Given the description of an element on the screen output the (x, y) to click on. 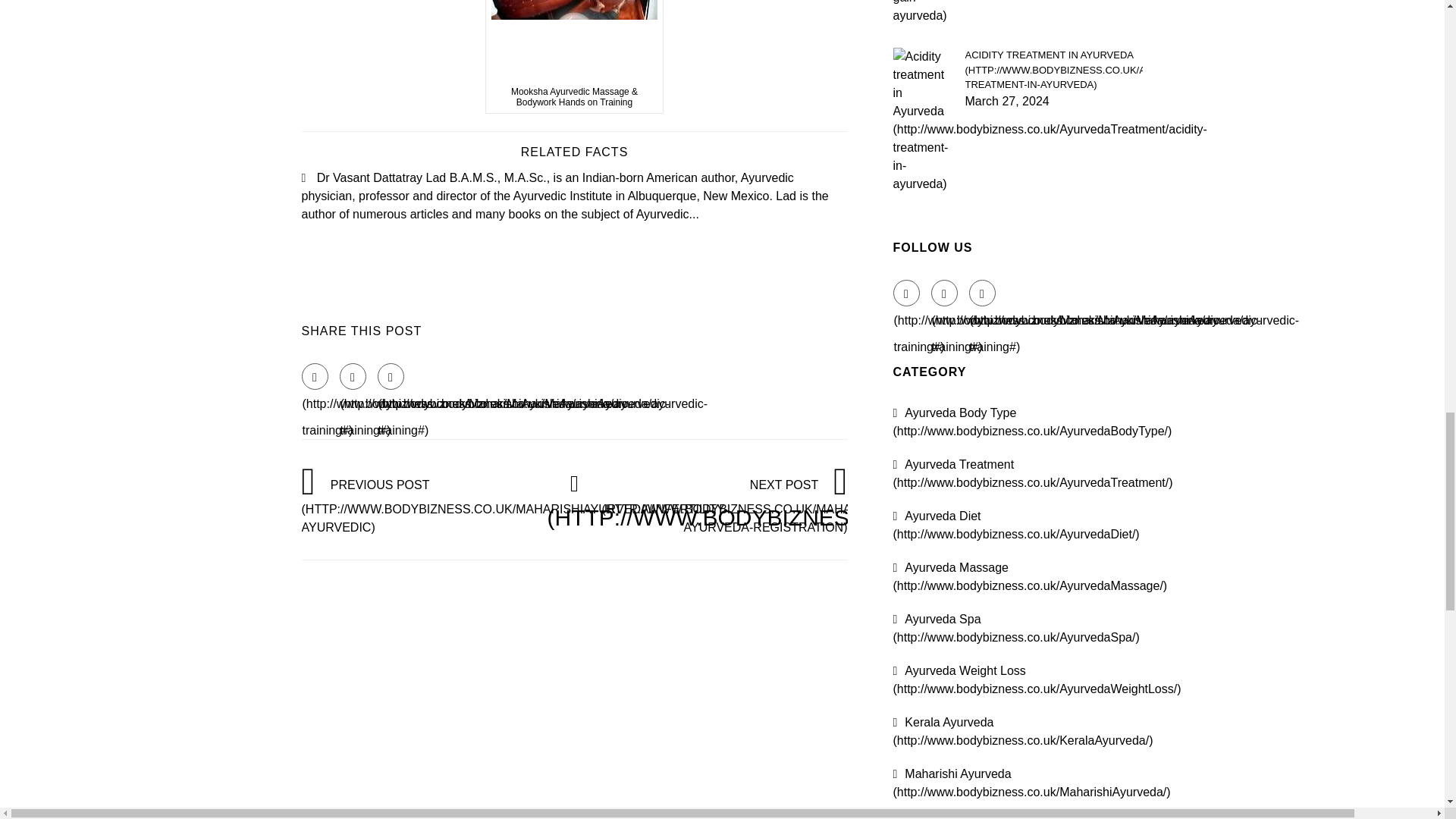
View all posts filed under Ayurveda Spa (1016, 627)
View all posts filed under Ayurveda Diet (1016, 524)
View all posts filed under Ayurveda Massage (1030, 576)
Twitter (352, 376)
NEXT POST (795, 504)
Twitter (944, 293)
View all posts filed under Ayurveda Treatment (1033, 472)
Facebook (315, 376)
PREVIOUS POST (514, 504)
View this video from YouTube (573, 56)
